Given the description of an element on the screen output the (x, y) to click on. 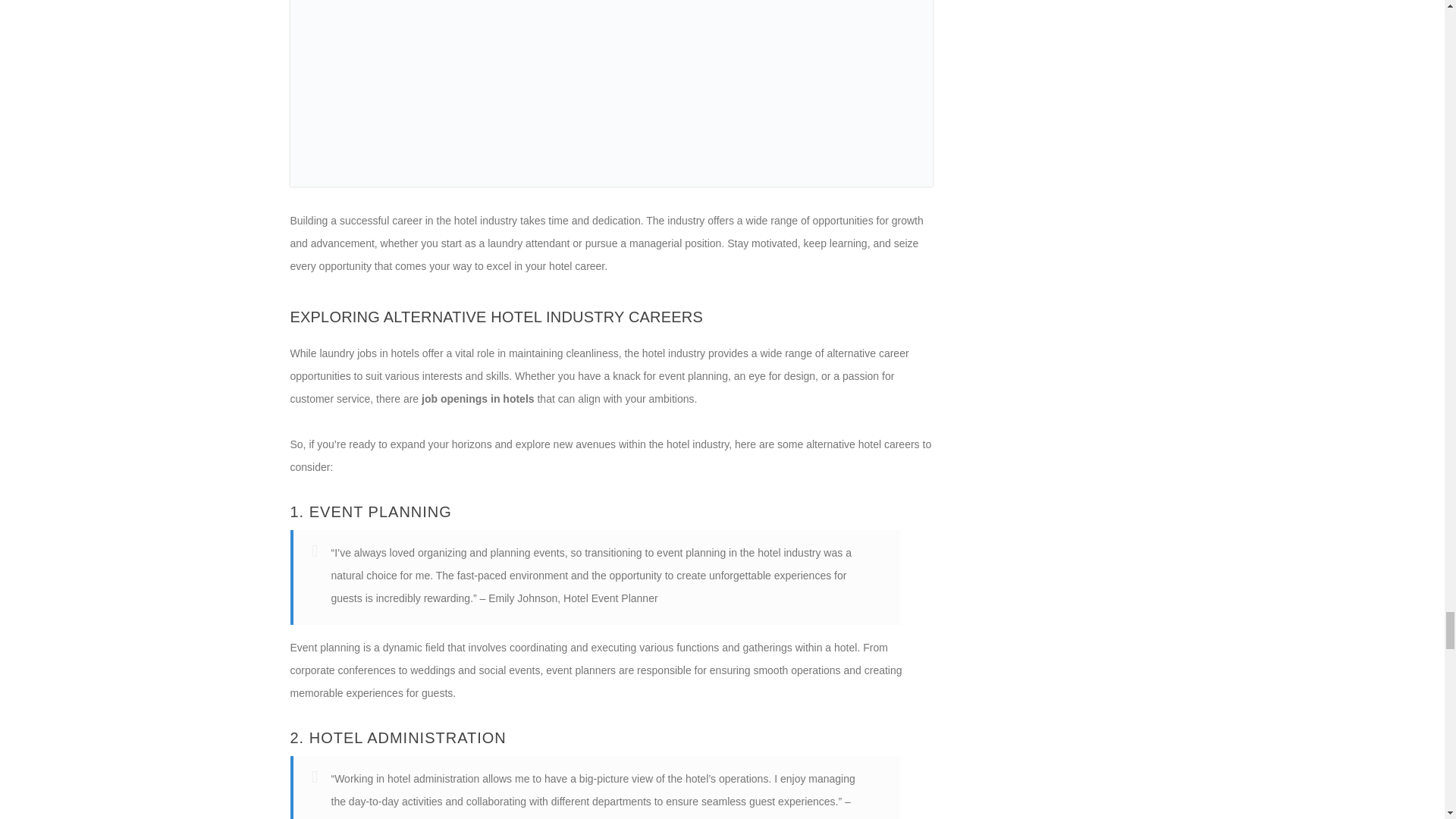
hotel careers (611, 92)
